Given the description of an element on the screen output the (x, y) to click on. 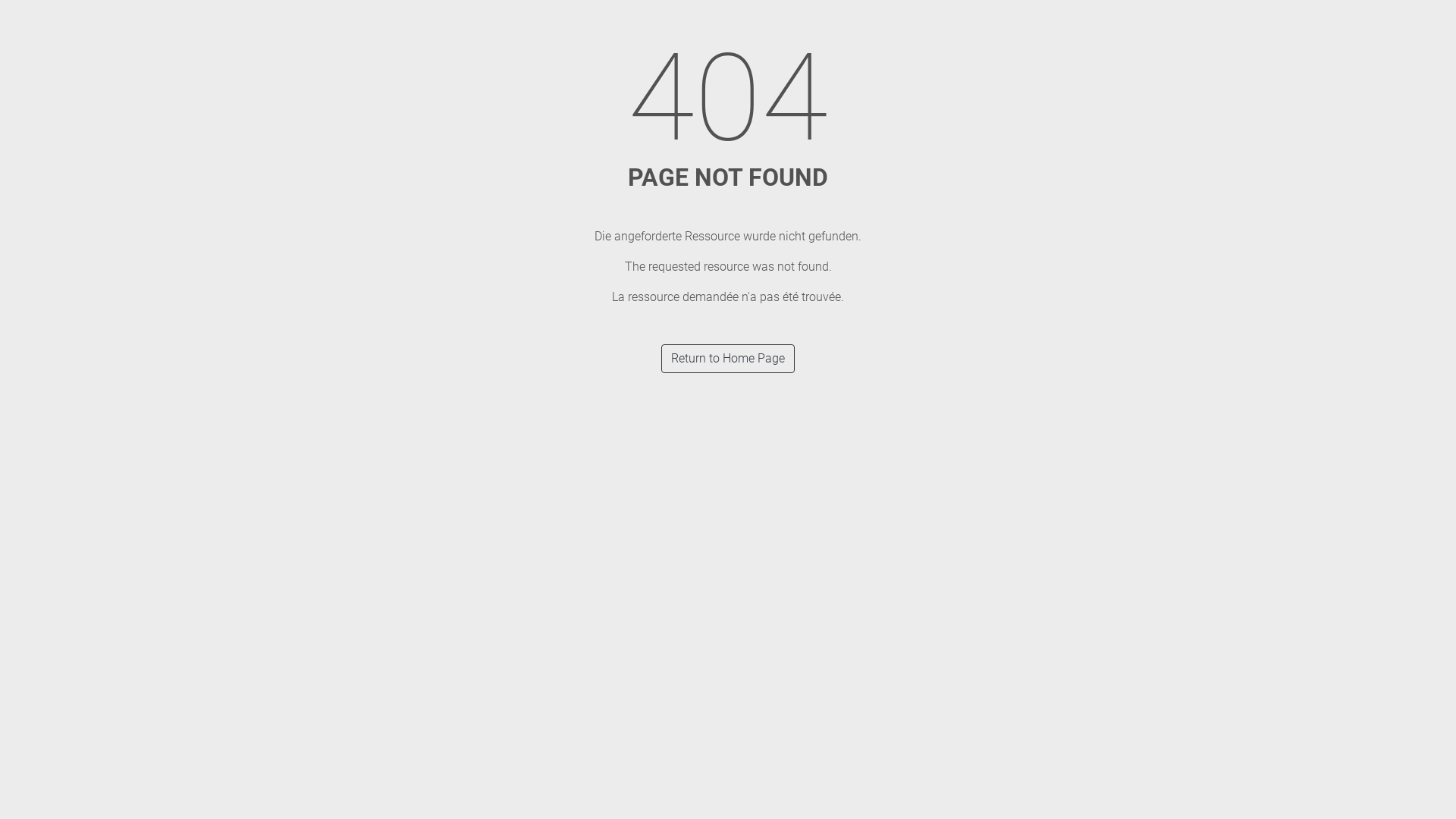
Return to Home Page Element type: text (727, 358)
